Given the description of an element on the screen output the (x, y) to click on. 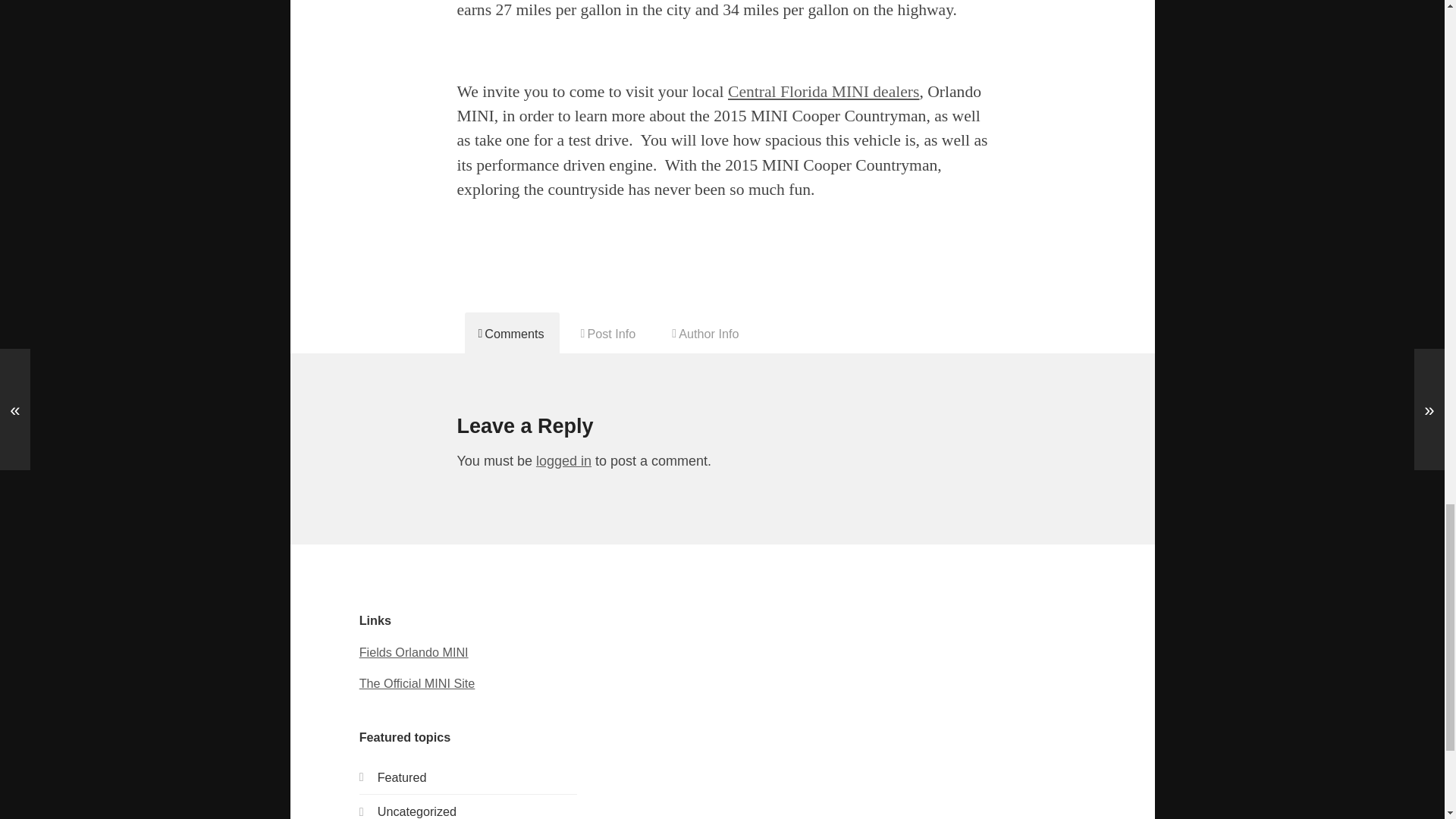
Fields Orlando MINI (413, 652)
Central Florida MINI dealers (823, 90)
Post Info (608, 332)
Comments (511, 332)
Author Info (706, 332)
logged in (563, 460)
